Given the description of an element on the screen output the (x, y) to click on. 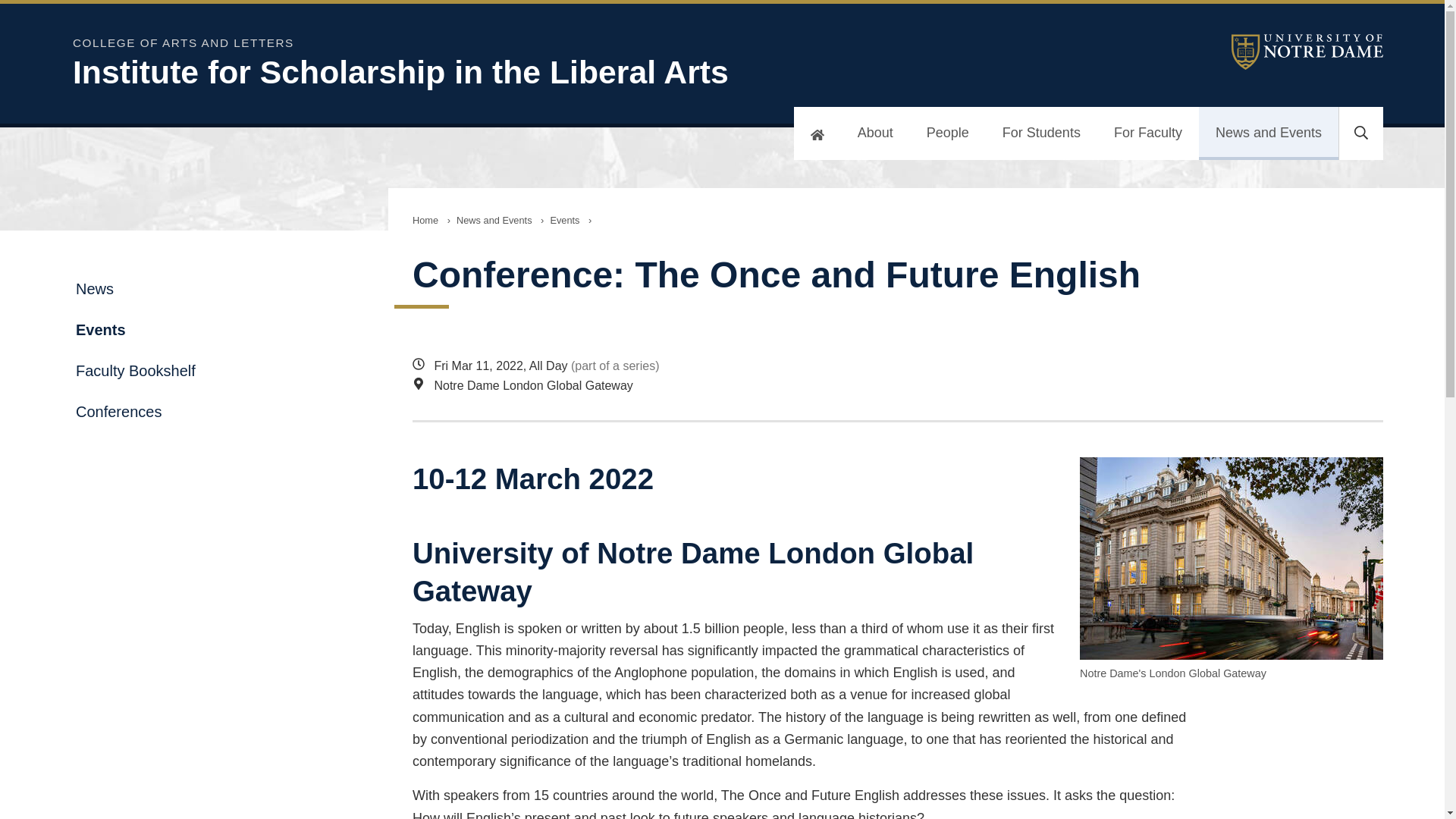
Events (564, 220)
About (875, 133)
University of Notre Dame (1307, 51)
For Students (1041, 133)
News and Events (1268, 133)
News and Events (493, 220)
People (947, 133)
Fri Mar 11, 2022 12:00 am - 11:59 pm (806, 365)
Home (425, 220)
For Faculty (1147, 133)
